Given the description of an element on the screen output the (x, y) to click on. 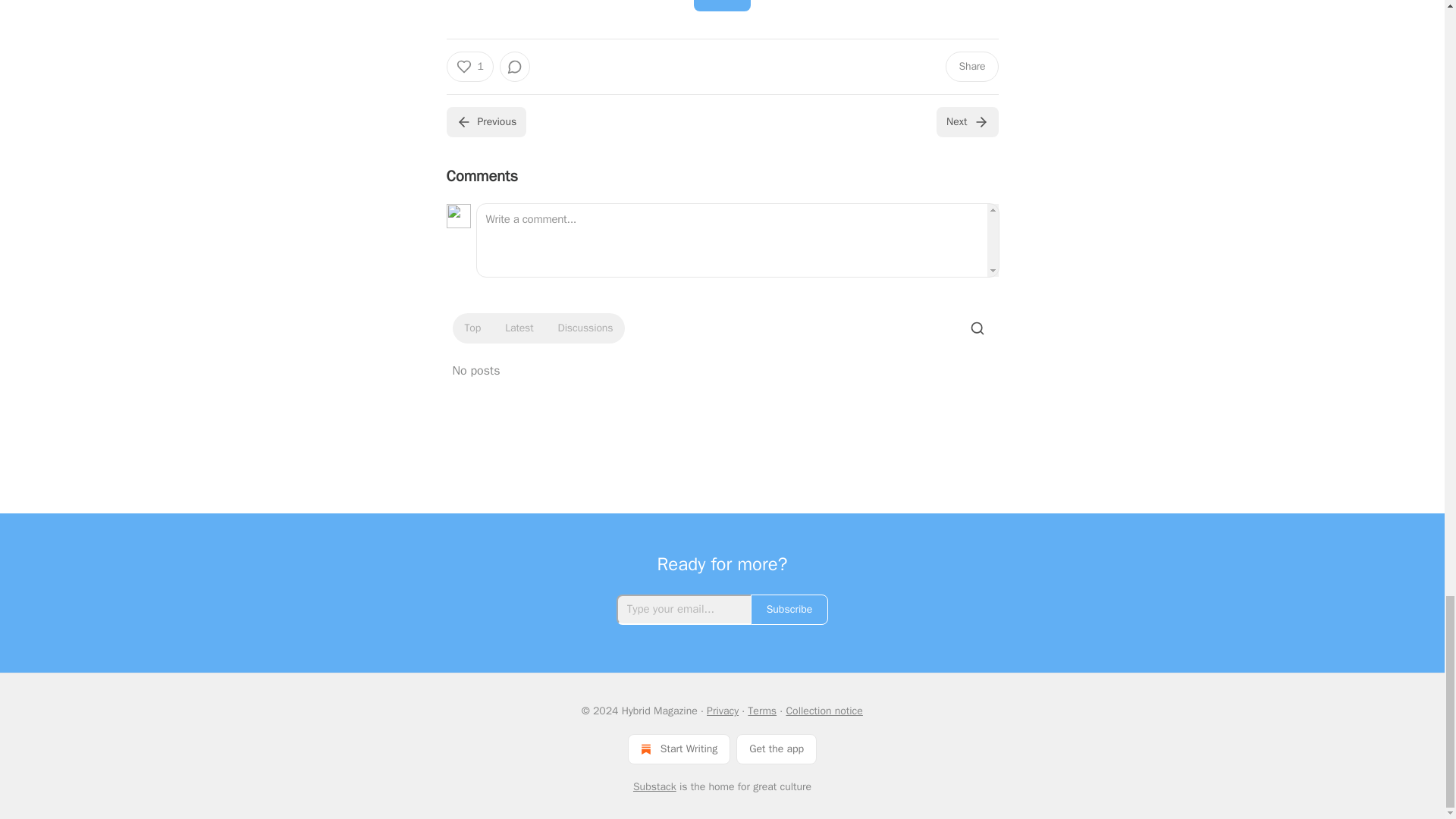
Share (722, 5)
1 (469, 66)
